Given the description of an element on the screen output the (x, y) to click on. 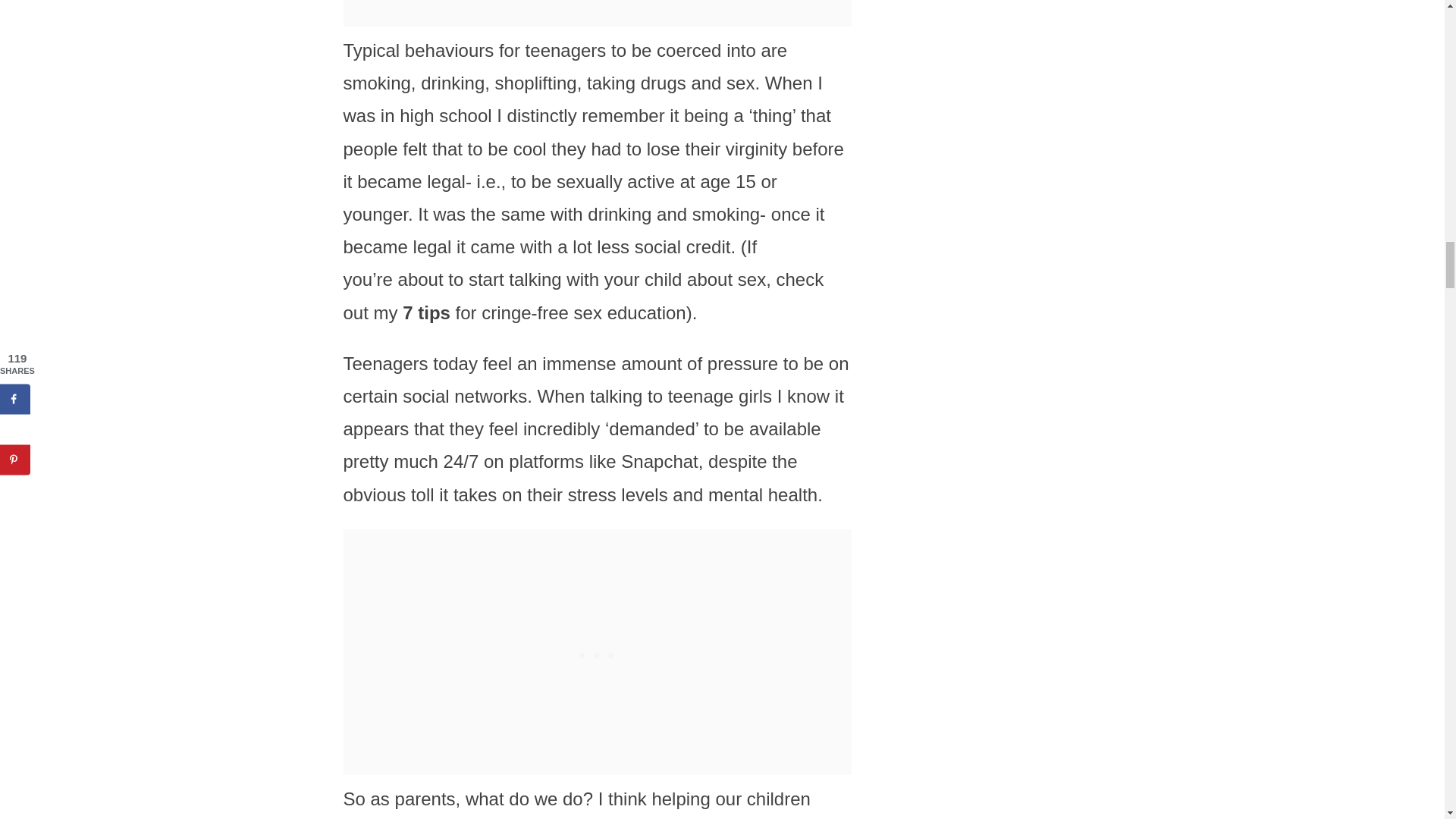
7 tips for  (442, 312)
cringe-free sex education (583, 312)
